Given the description of an element on the screen output the (x, y) to click on. 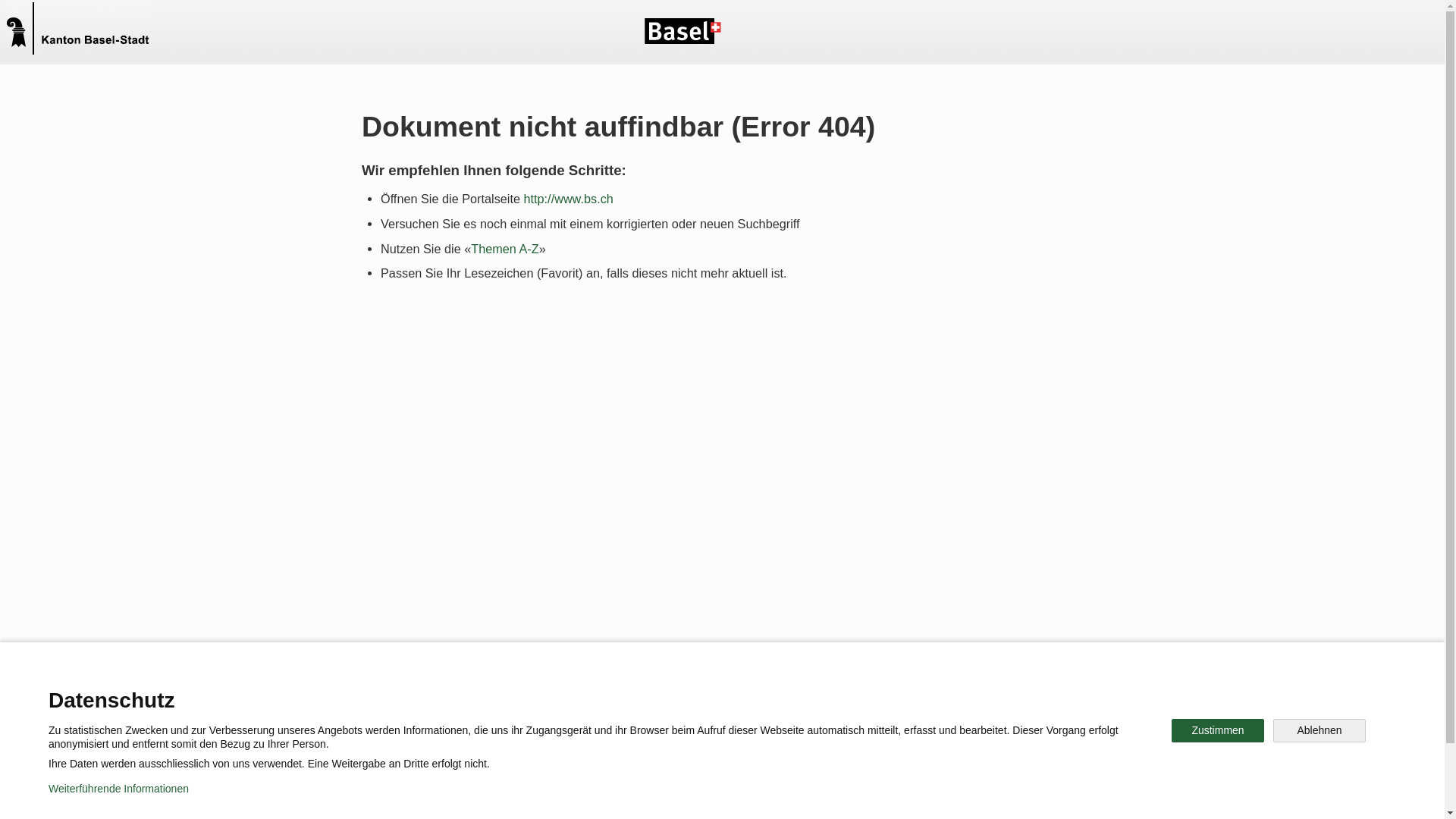
http://www.bs.ch Element type: text (567, 198)
Ablehnen Element type: text (1319, 730)
Impressum Element type: text (648, 783)
Nutzungsregelungen Element type: text (542, 783)
Remote Access (workplace) Element type: text (942, 783)
Zur mobilen Ansicht Element type: text (415, 796)
Themen A-Z Element type: text (504, 247)
Zustimmen Element type: text (1217, 730)
Intranet (verwaltungsintern) Element type: text (773, 783)
